Given the description of an element on the screen output the (x, y) to click on. 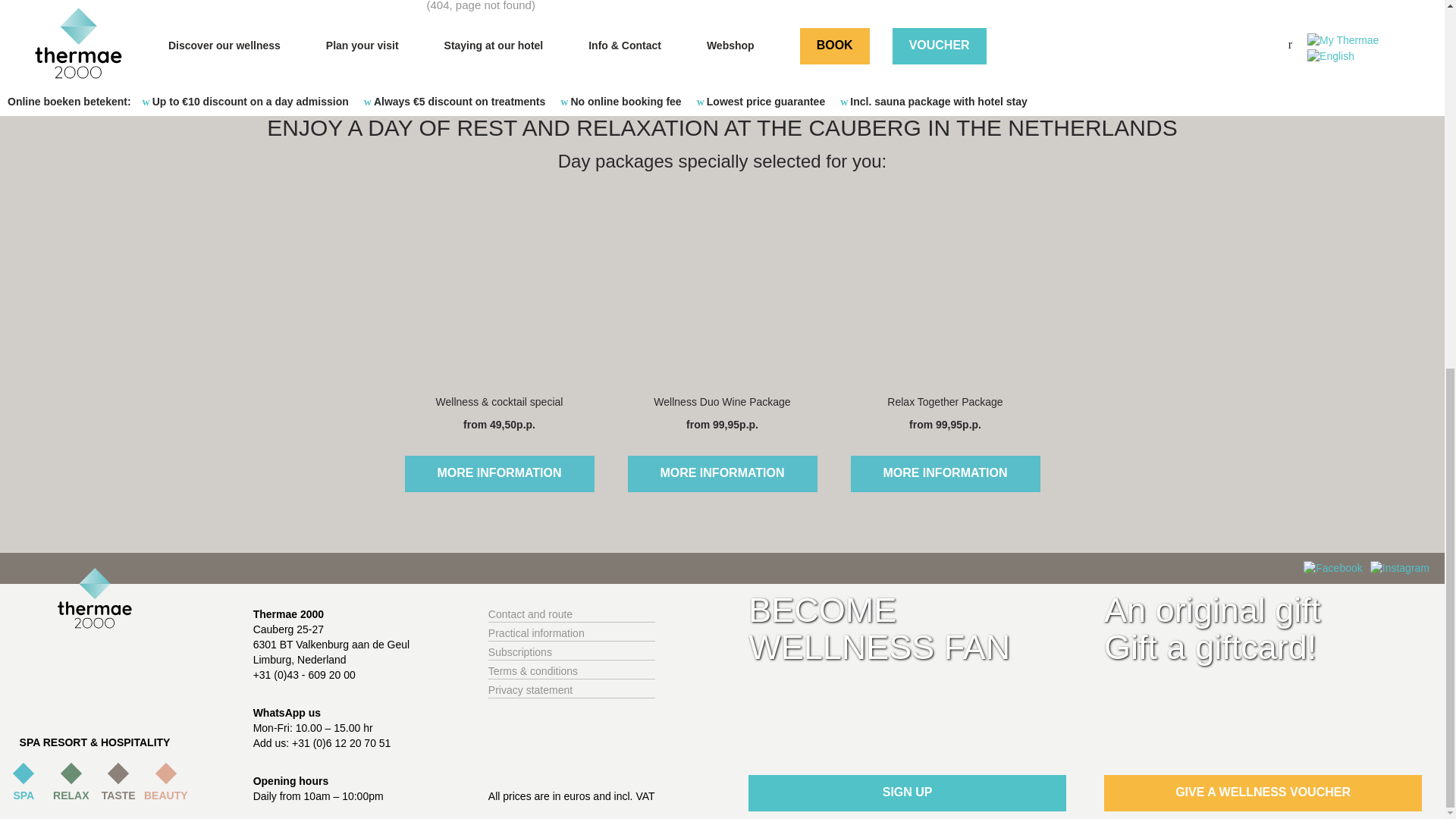
More information (499, 473)
Wellness Duo Wine Package  (721, 292)
Relax Together Package (945, 292)
More information (945, 473)
More information (721, 473)
